Given the description of an element on the screen output the (x, y) to click on. 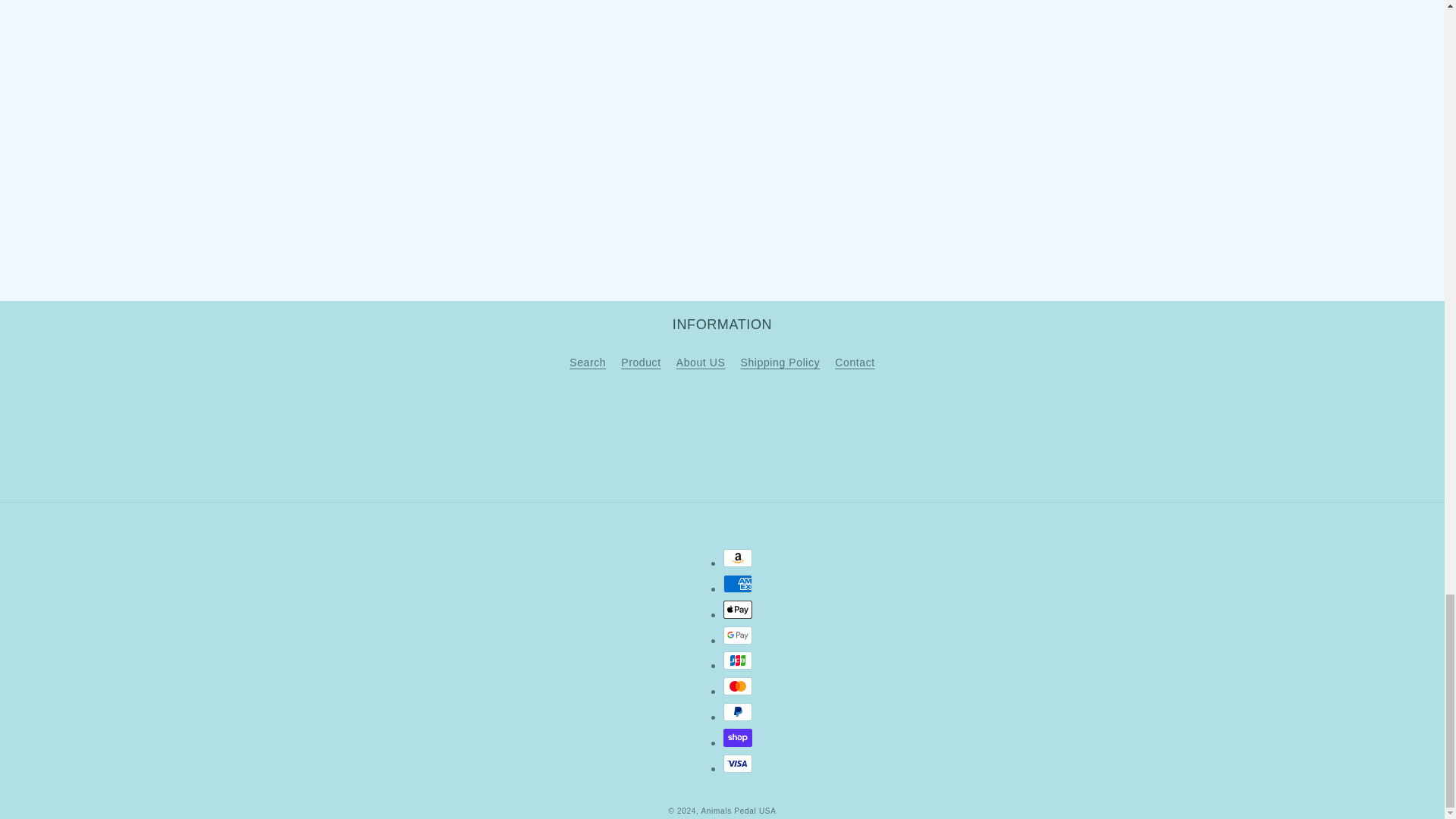
Apple Pay (737, 609)
Visa (737, 763)
Shop Pay (737, 737)
PayPal (737, 711)
Amazon (737, 557)
JCB (737, 660)
American Express (737, 583)
Google Pay (737, 635)
Mastercard (737, 686)
